Given the description of an element on the screen output the (x, y) to click on. 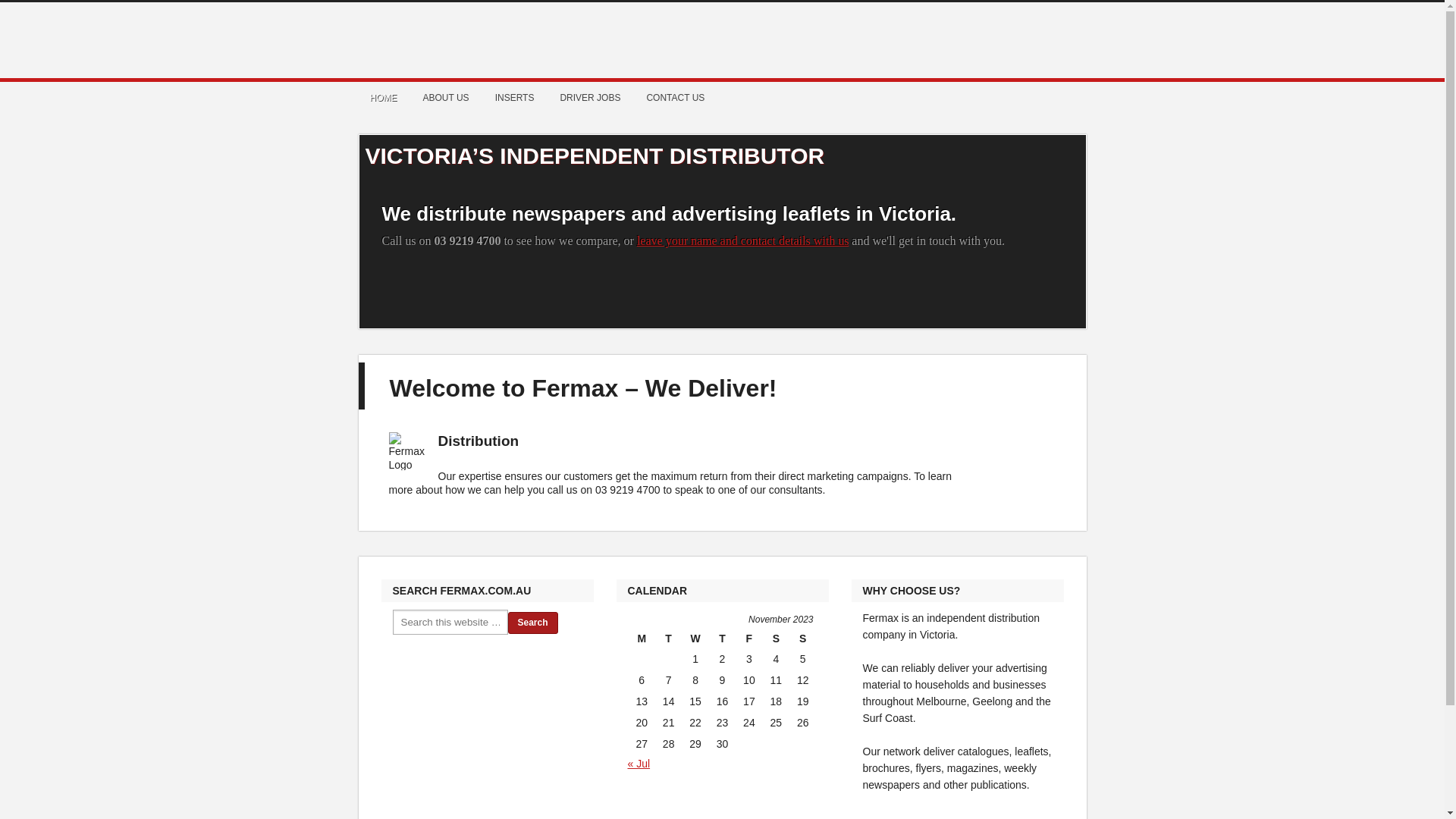
INSERTS Element type: text (515, 97)
HOME Element type: text (383, 97)
Fermax Logo Element type: hover (407, 451)
ABOUT US Element type: text (446, 97)
DRIVER JOBS Element type: text (590, 97)
leave your name and contact details with us Element type: text (742, 240)
CONTACT US Element type: text (675, 97)
Search Element type: text (533, 622)
FERMAX LETTERBOX DISTRIBUTION COMPANY MELBOURNE Element type: text (721, 40)
